Given the description of an element on the screen output the (x, y) to click on. 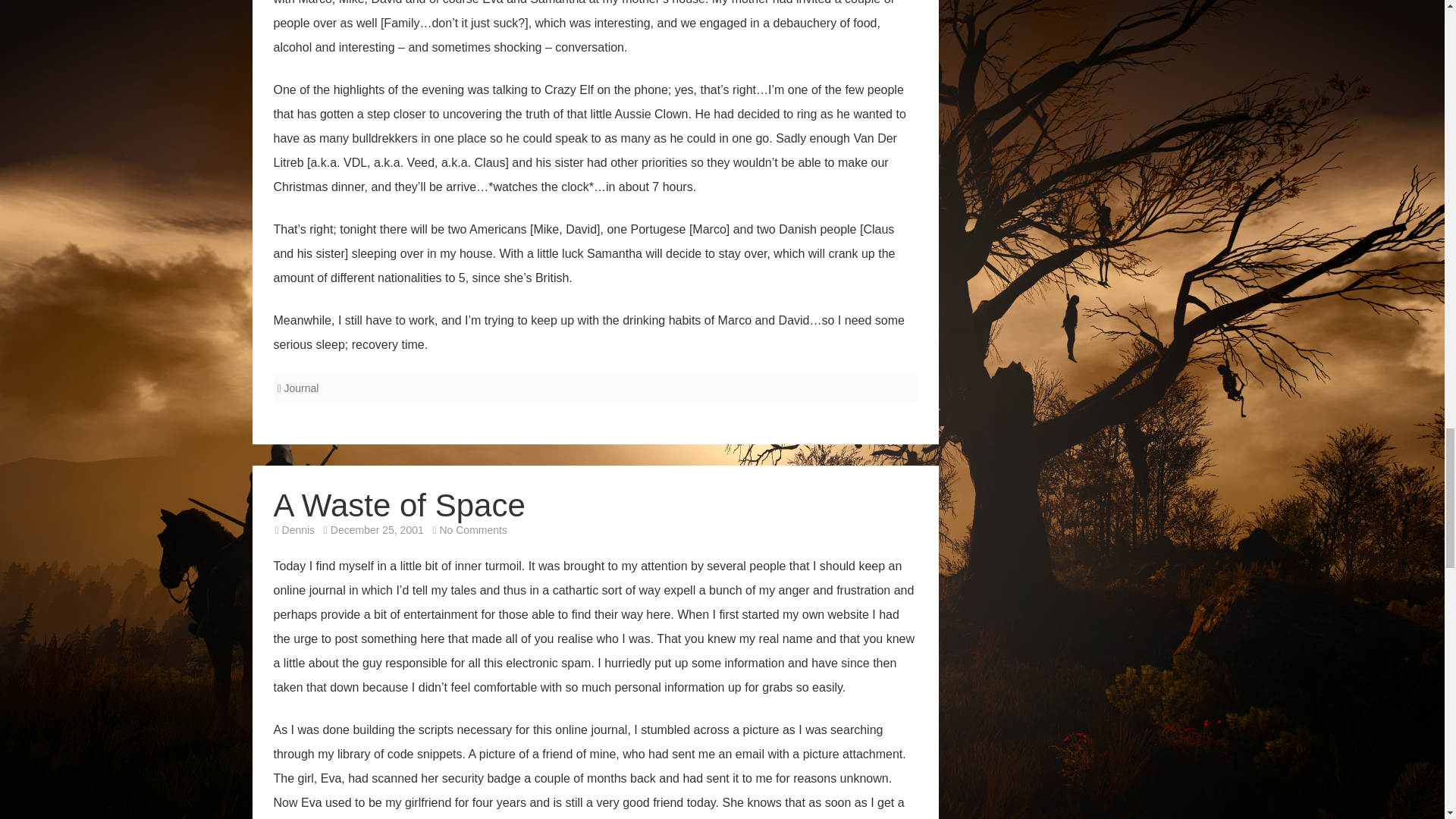
A Waste of Space (472, 530)
Dennis (398, 505)
Journal (298, 530)
